Given the description of an element on the screen output the (x, y) to click on. 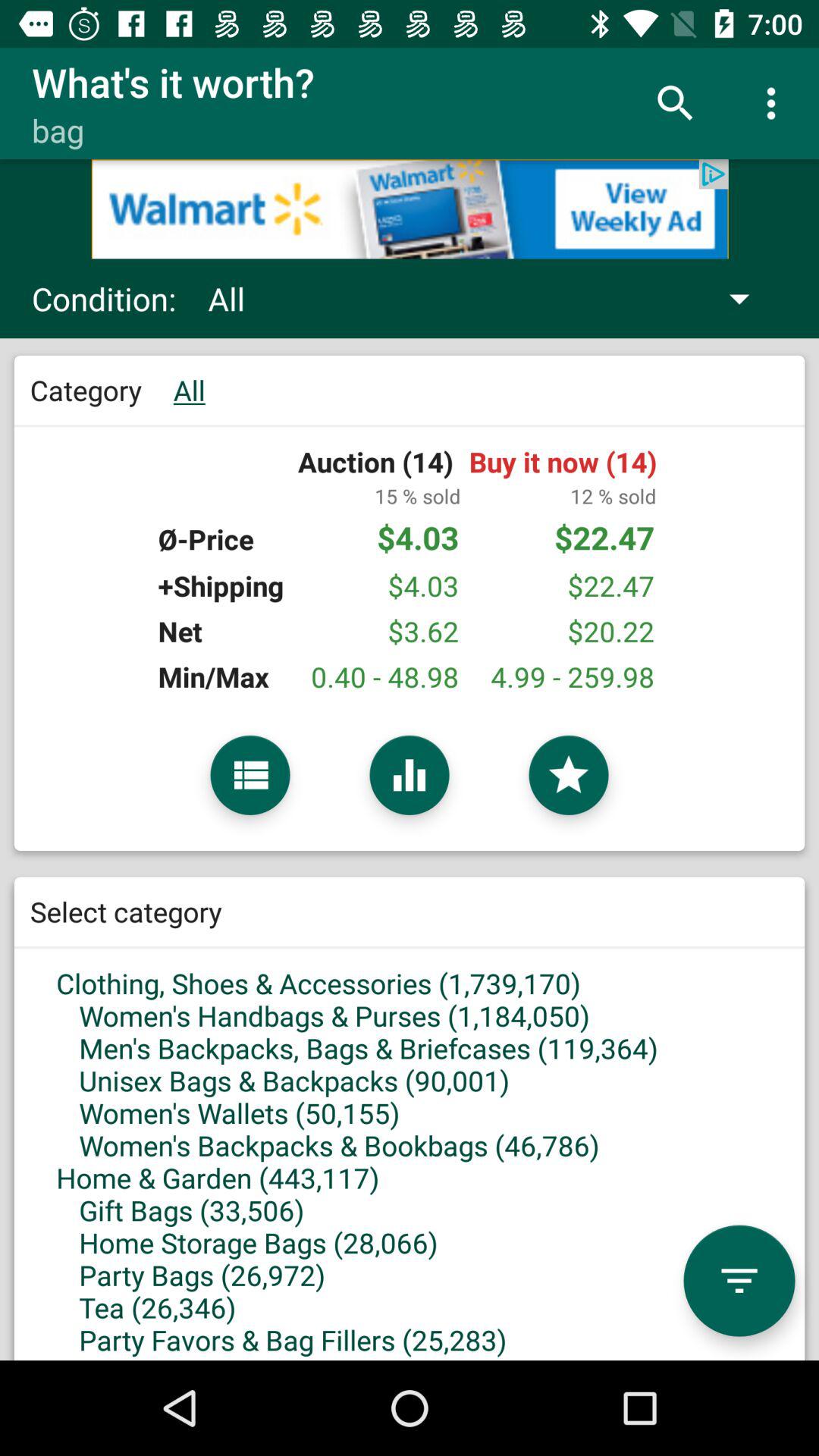
select the button for to details information (249, 774)
